Given the description of an element on the screen output the (x, y) to click on. 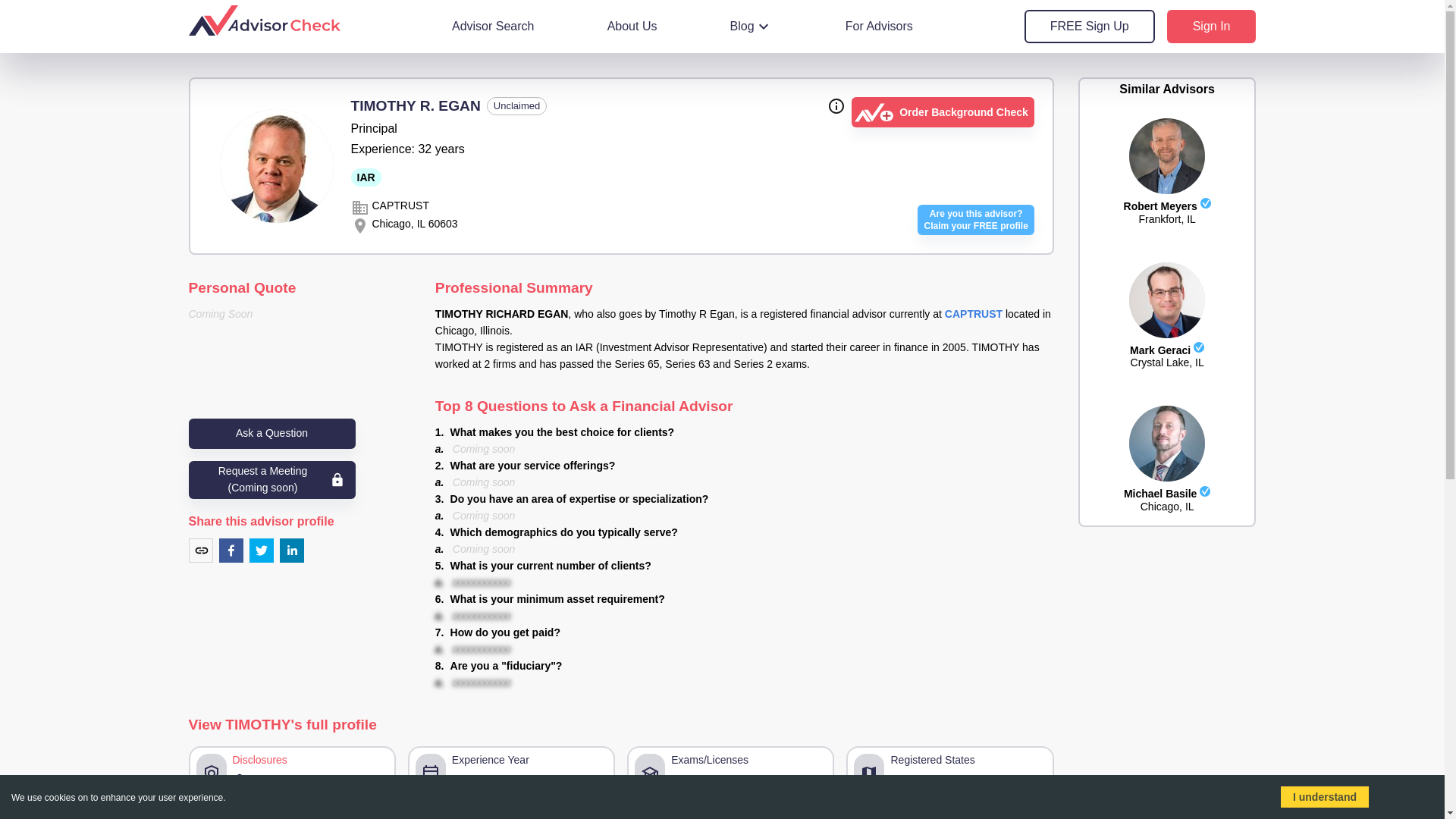
For Advisors (878, 25)
CAPTRUST (973, 313)
Experience (374, 816)
Firm Detail (867, 816)
Advertisement (1166, 638)
Robert Meyers (1167, 203)
FREE Sign Up (1089, 26)
About Us (632, 25)
Blog (975, 219)
Ask a Question (751, 25)
Other Activities (271, 433)
Michael Basile (620, 816)
Sign In (1167, 490)
AdvisorCheck (1211, 26)
